Given the description of an element on the screen output the (x, y) to click on. 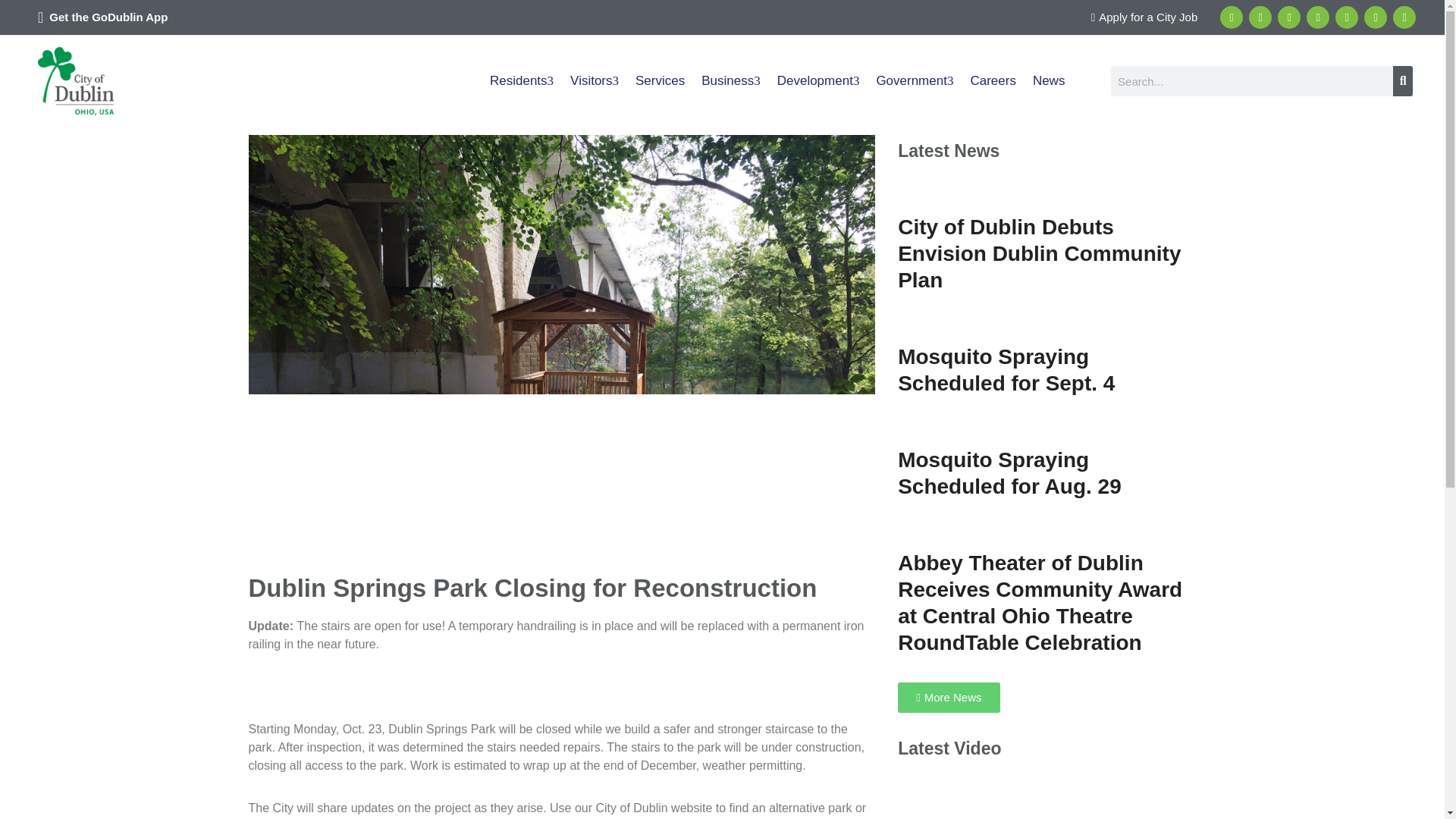
Get the GoDublin App (108, 16)
Residents (521, 80)
Apply for a City Job (1144, 17)
